Given the description of an element on the screen output the (x, y) to click on. 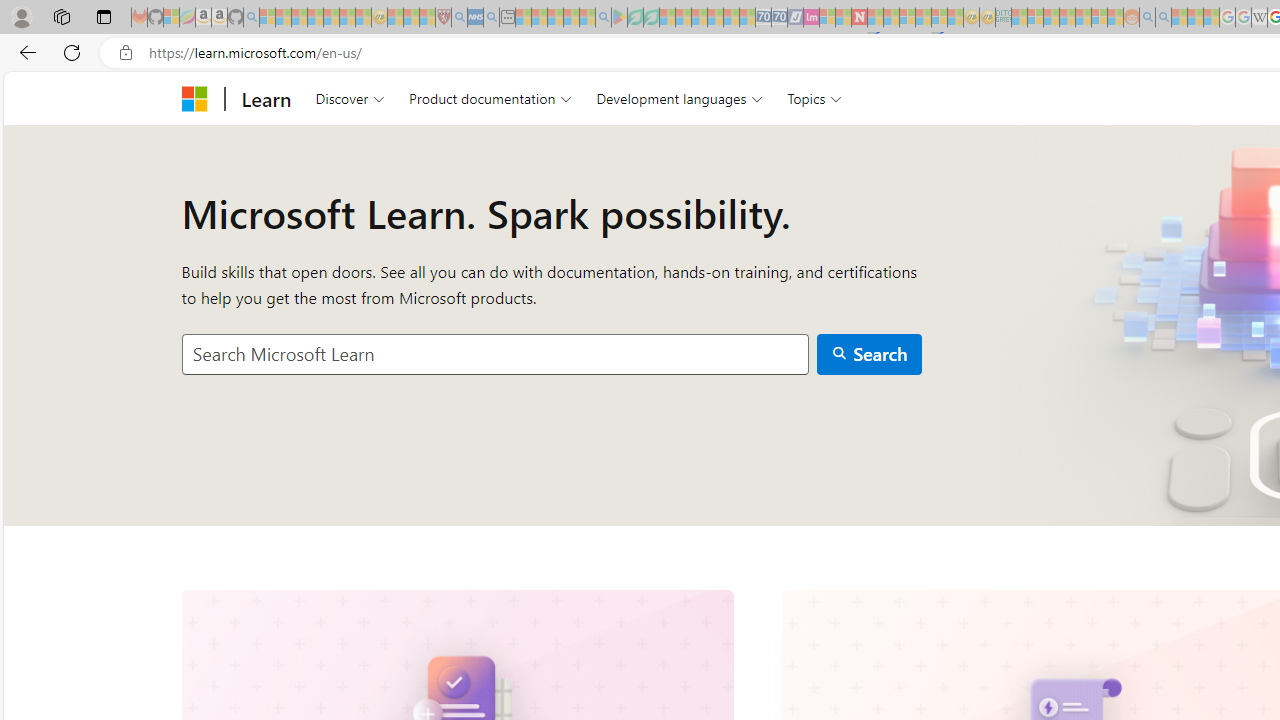
Development languages (679, 98)
